Given the description of an element on the screen output the (x, y) to click on. 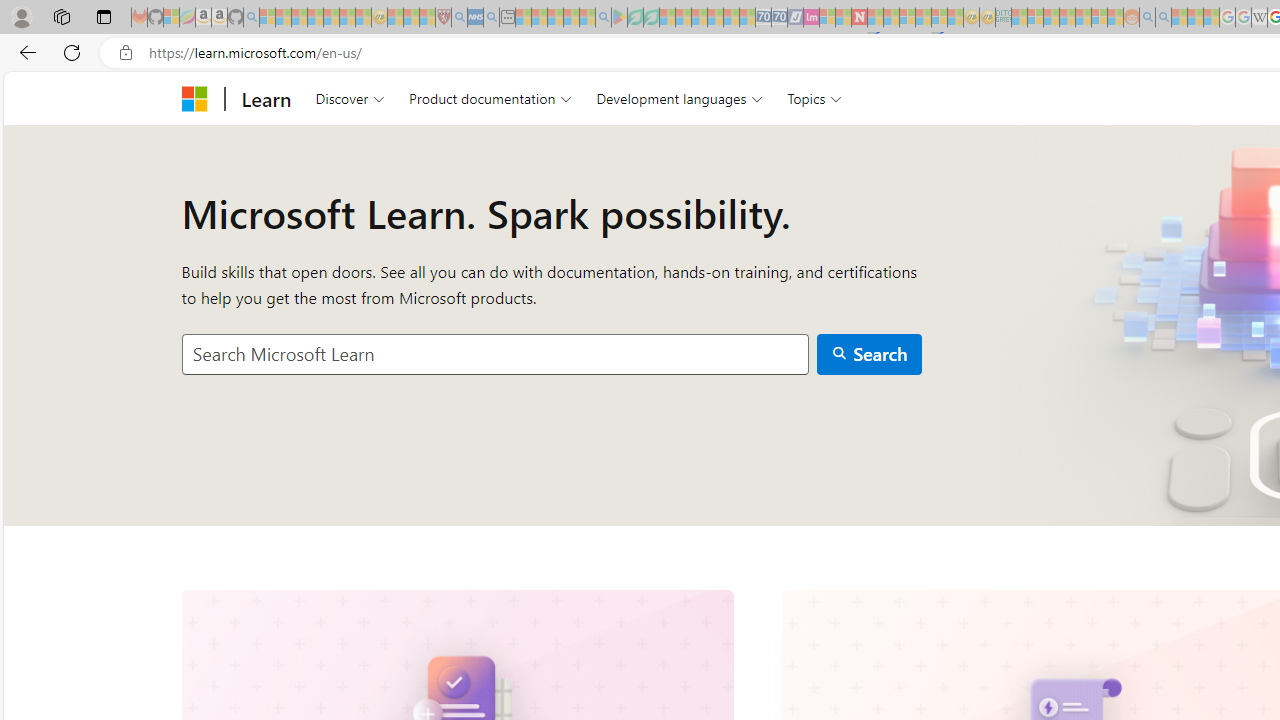
Development languages (679, 98)
